Given the description of an element on the screen output the (x, y) to click on. 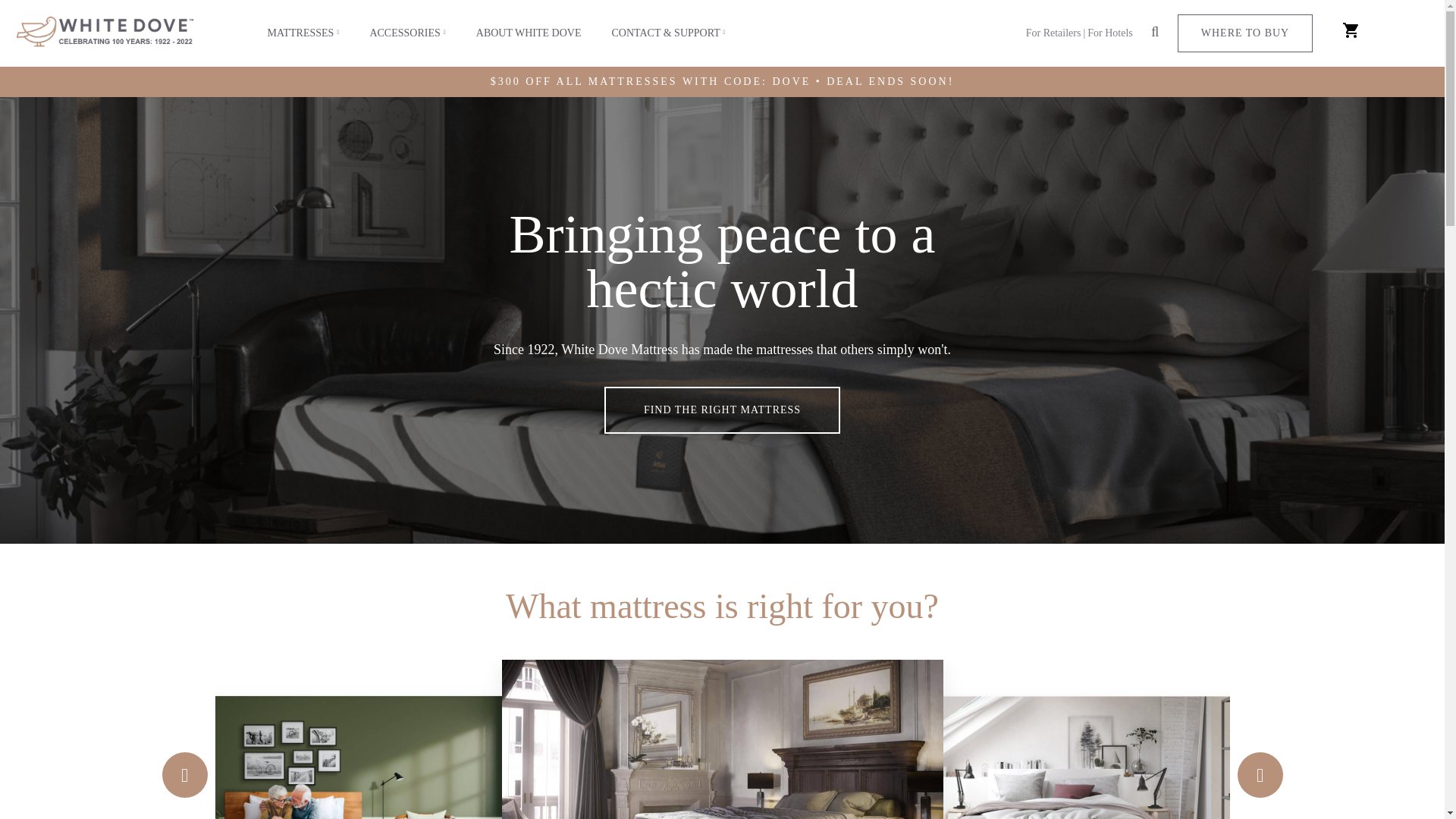
ABOUT WHITE DOVE (528, 33)
Opens a widget where you can find more information (1374, 792)
MATTRESSES   (302, 33)
ACCESSORIES   (406, 33)
